Given the description of an element on the screen output the (x, y) to click on. 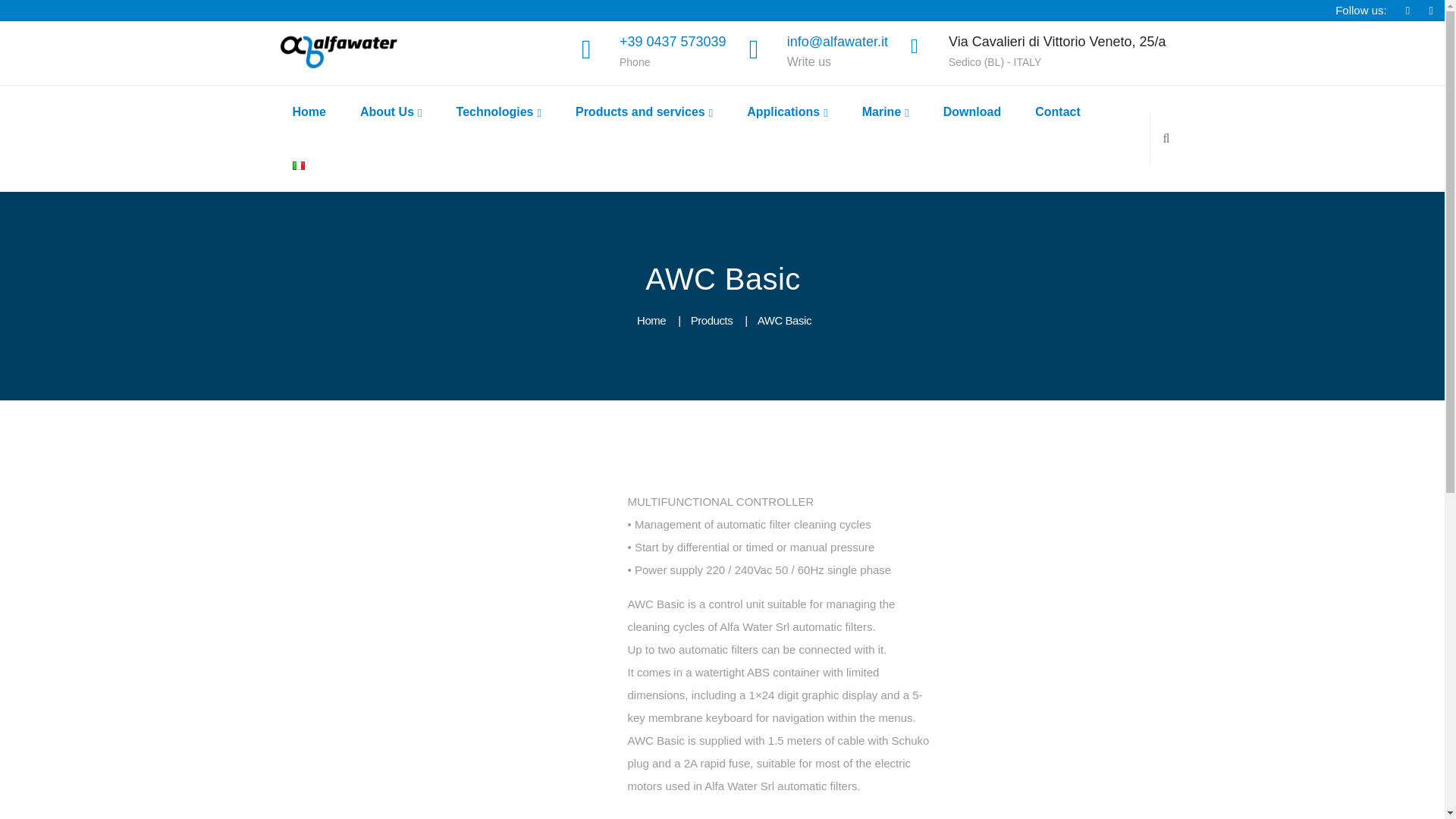
Marine (885, 111)
Alfawater (339, 51)
Download (971, 111)
Applications (786, 111)
Home (308, 111)
Home (651, 319)
Contact (1057, 111)
Products and services (643, 111)
About Us (390, 111)
Technologies (498, 111)
